Given the description of an element on the screen output the (x, y) to click on. 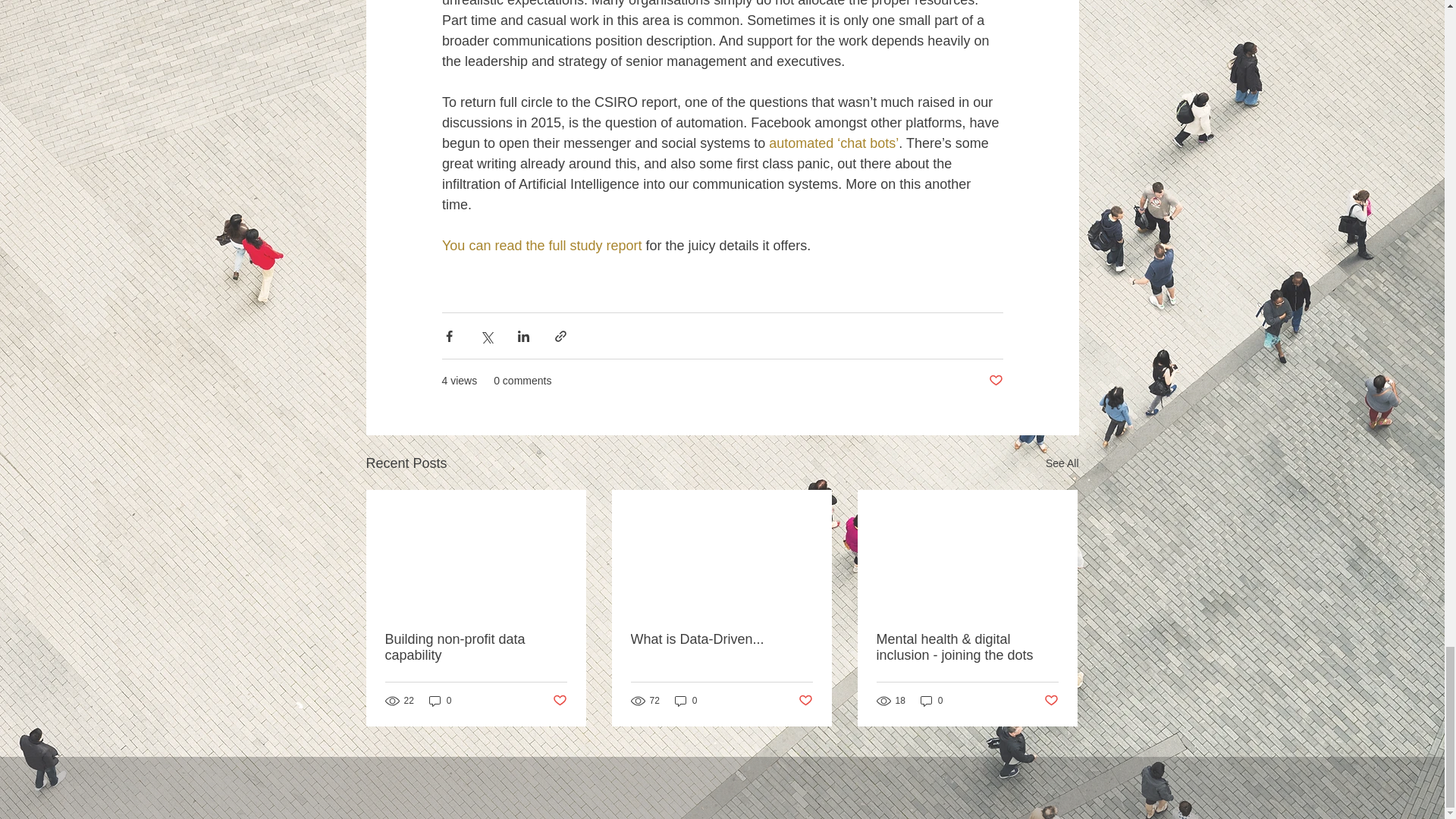
Post not marked as liked (995, 381)
See All (1061, 463)
0 (440, 700)
Post not marked as liked (1050, 700)
Post not marked as liked (558, 700)
0 (931, 700)
0 (685, 700)
Post not marked as liked (804, 700)
You can read the full study report  (543, 245)
What is Data-Driven... (721, 639)
Building non-profit data capability (476, 647)
